Given the description of an element on the screen output the (x, y) to click on. 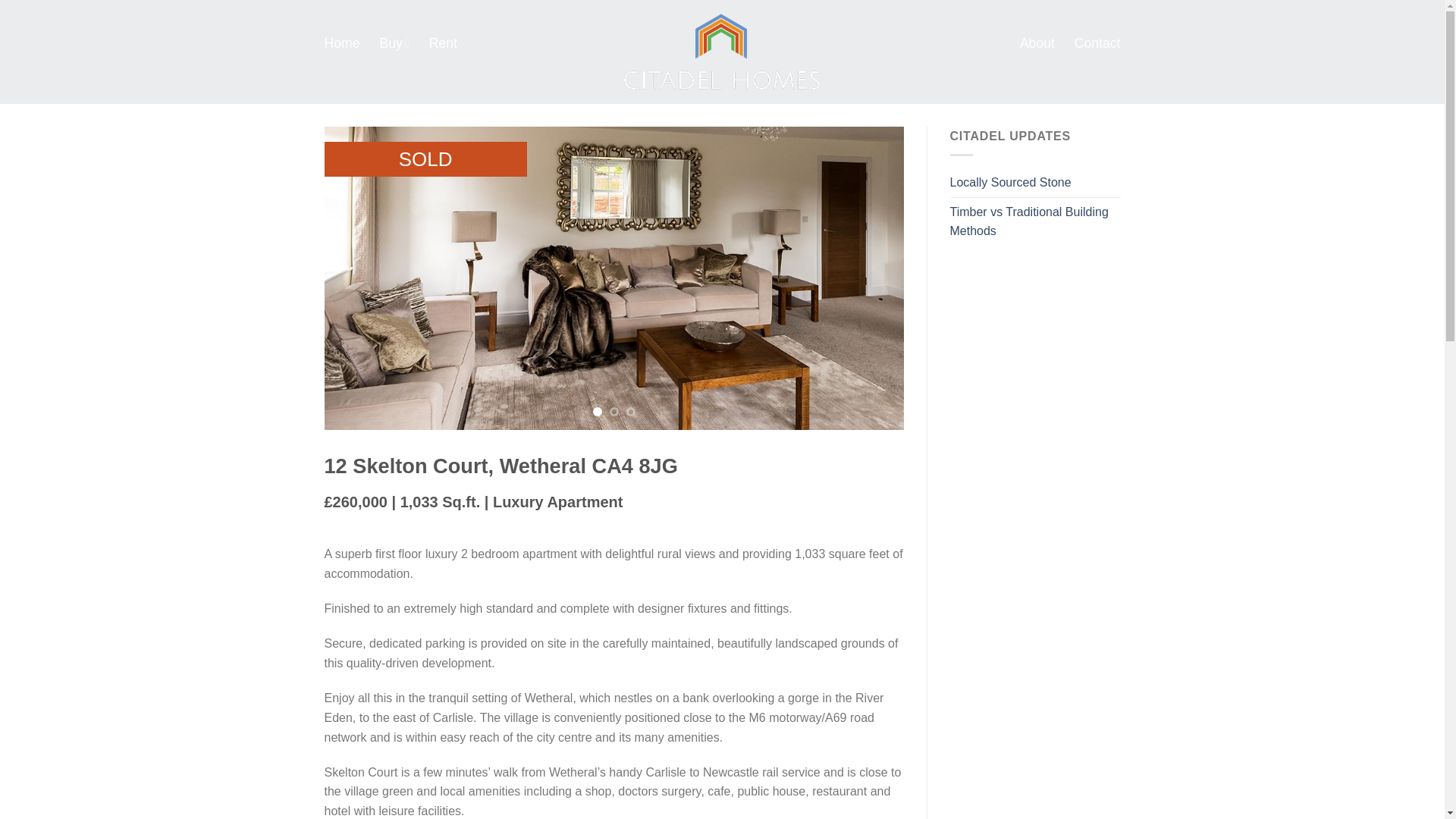
Locally Sourced Stone  (1011, 182)
Home (341, 42)
Timber vs Traditional Building Methods (1034, 221)
Rent (443, 42)
Contact (1097, 42)
About (1037, 42)
Buy (393, 42)
